Given the description of an element on the screen output the (x, y) to click on. 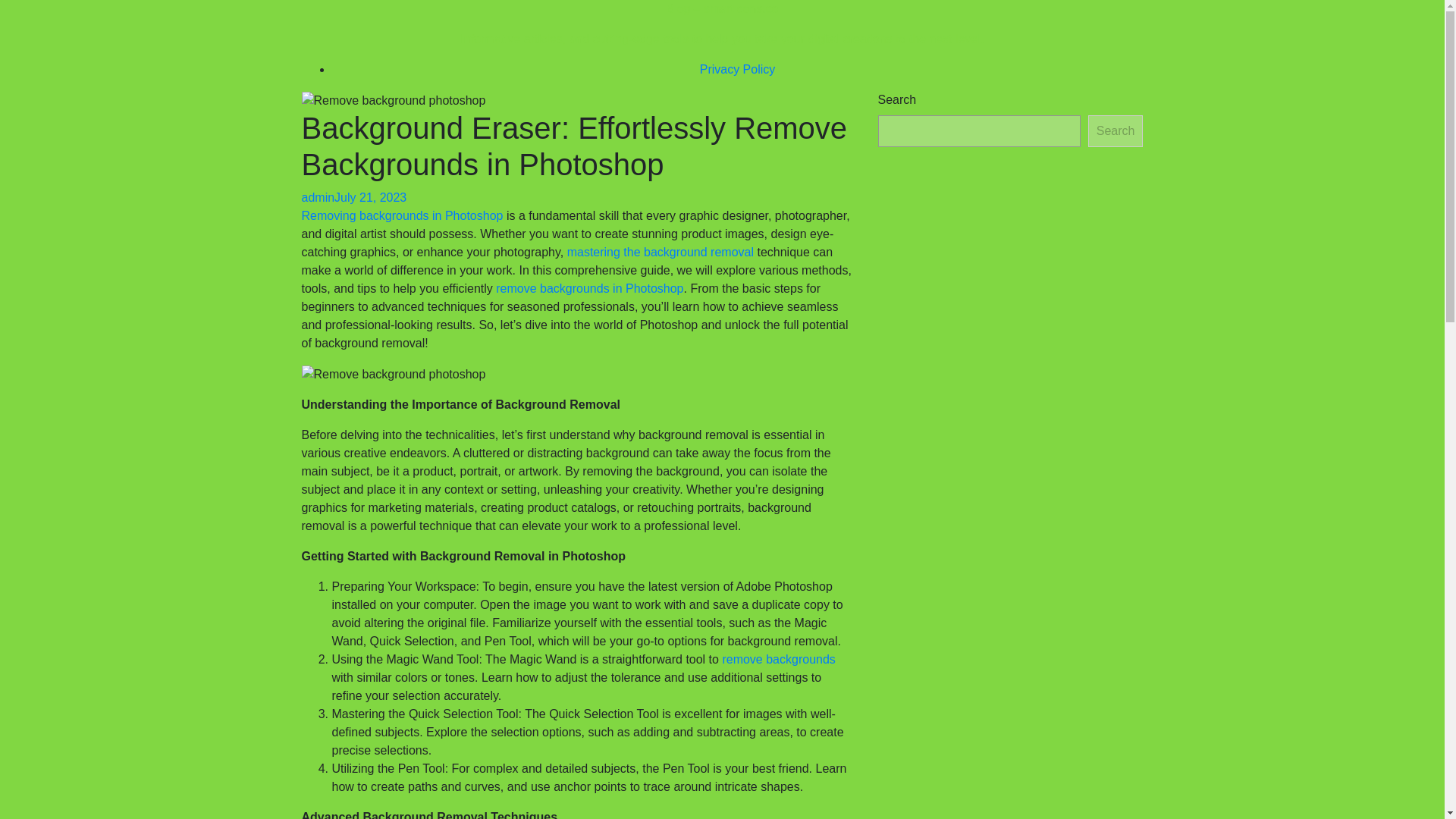
admin (317, 196)
remove backgrounds in Photoshop (589, 287)
mastering the background removal (660, 251)
remove backgrounds (778, 658)
Search (1114, 131)
Removing backgrounds in Photoshop (402, 215)
July 21, 2023 (370, 196)
Privacy Policy (738, 69)
